Given the description of an element on the screen output the (x, y) to click on. 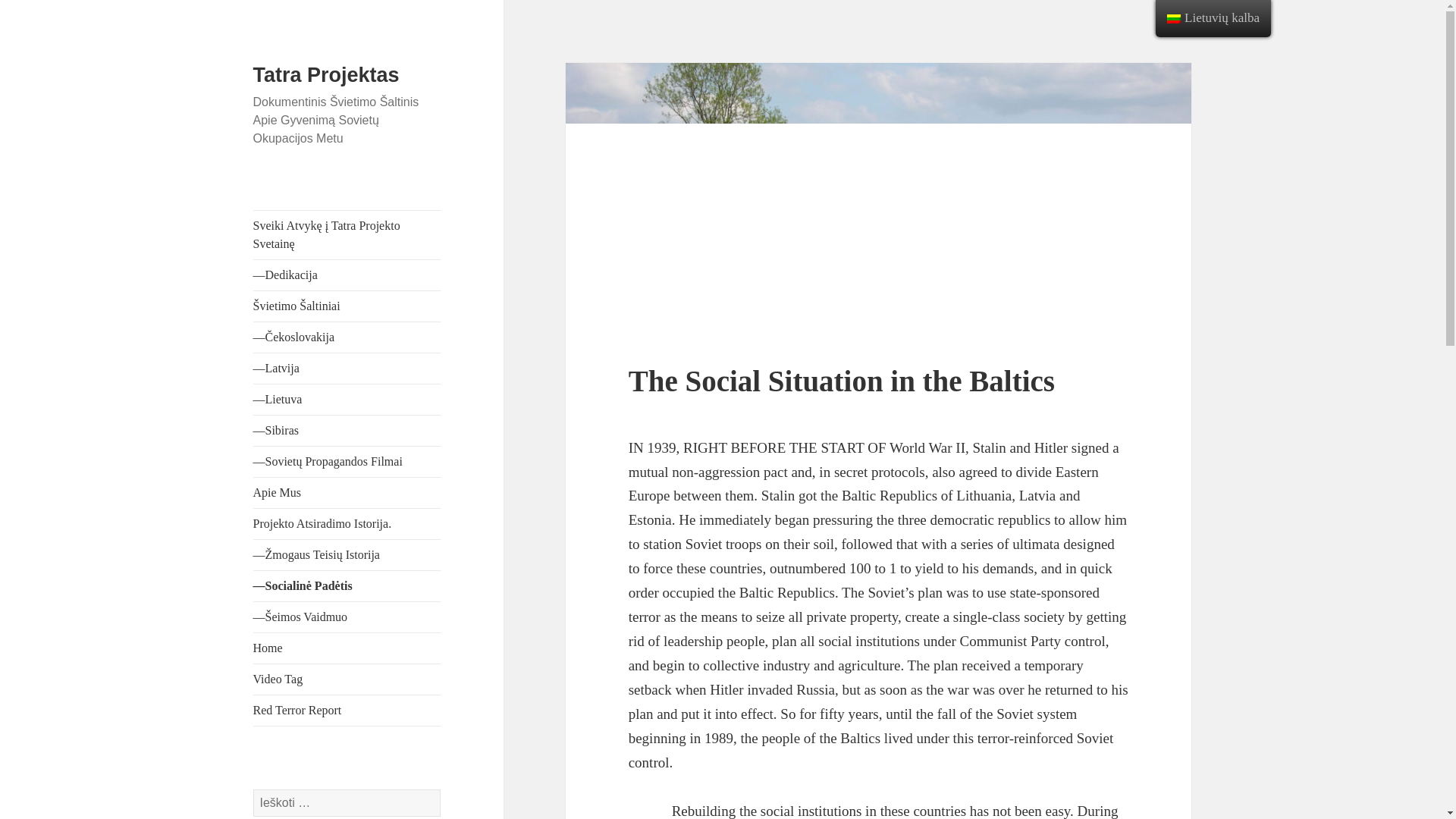
Red Terror Report (347, 710)
Projekto Atsiradimo Istorija. (347, 523)
Video Tag (347, 679)
Tatra Projektas (325, 74)
Apie Mus (347, 492)
Home (347, 648)
